Given the description of an element on the screen output the (x, y) to click on. 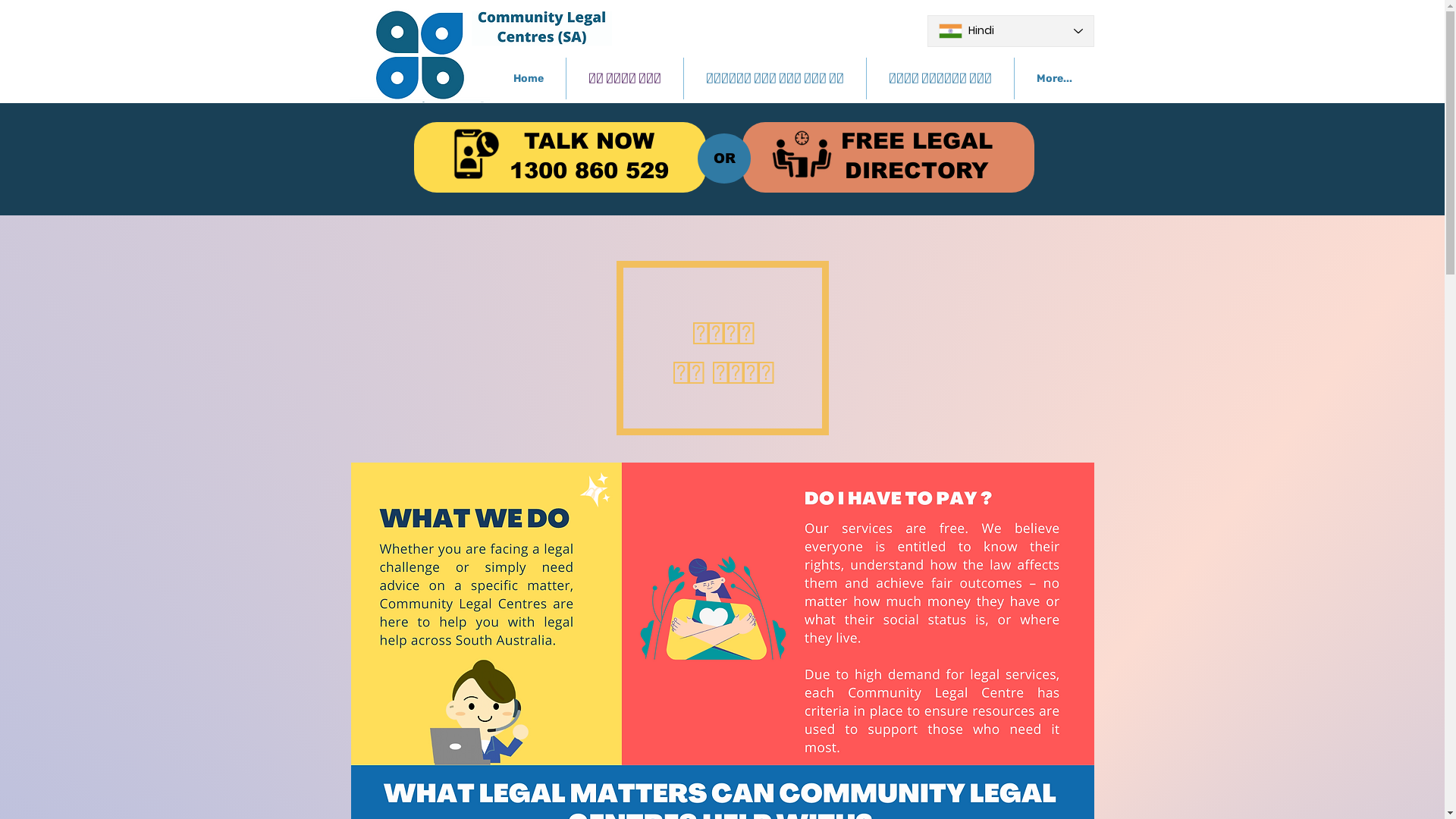
Home Element type: text (528, 78)
FREE LEGAL
DIRECTORY Element type: text (915, 155)
TALK NOW
1300 860 529 Element type: text (588, 155)
PHONE.png Element type: hover (475, 154)
